Given the description of an element on the screen output the (x, y) to click on. 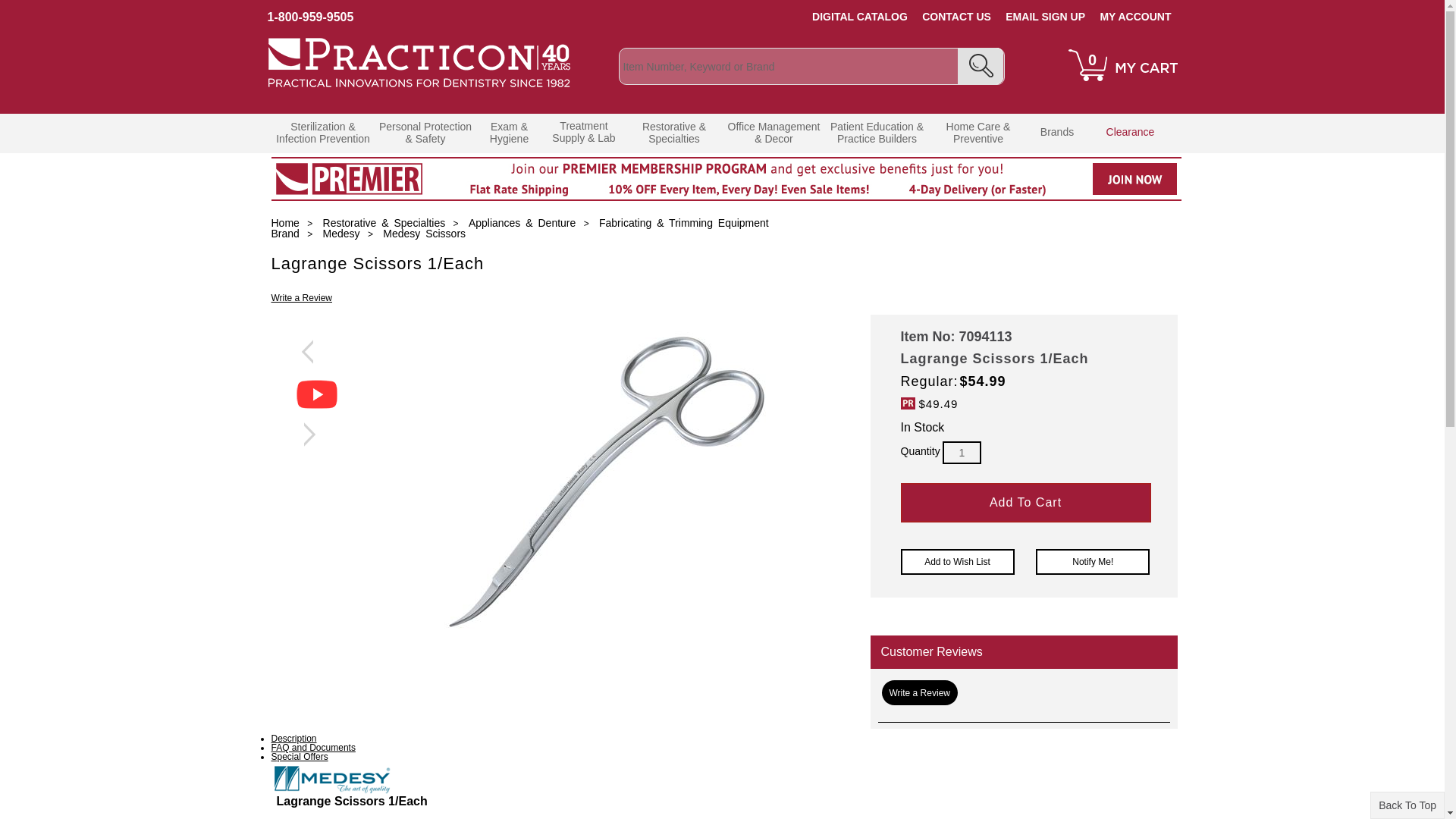
Add To Cart (1026, 502)
0 (1121, 84)
Item Number, Keyword or Brand (811, 66)
EMAIL SIGN UP (1044, 16)
DIGITAL CATALOG (860, 16)
1 (961, 452)
CONTACT US (956, 16)
MY ACCOUNT (1134, 16)
Premier Membership (725, 197)
